Given the description of an element on the screen output the (x, y) to click on. 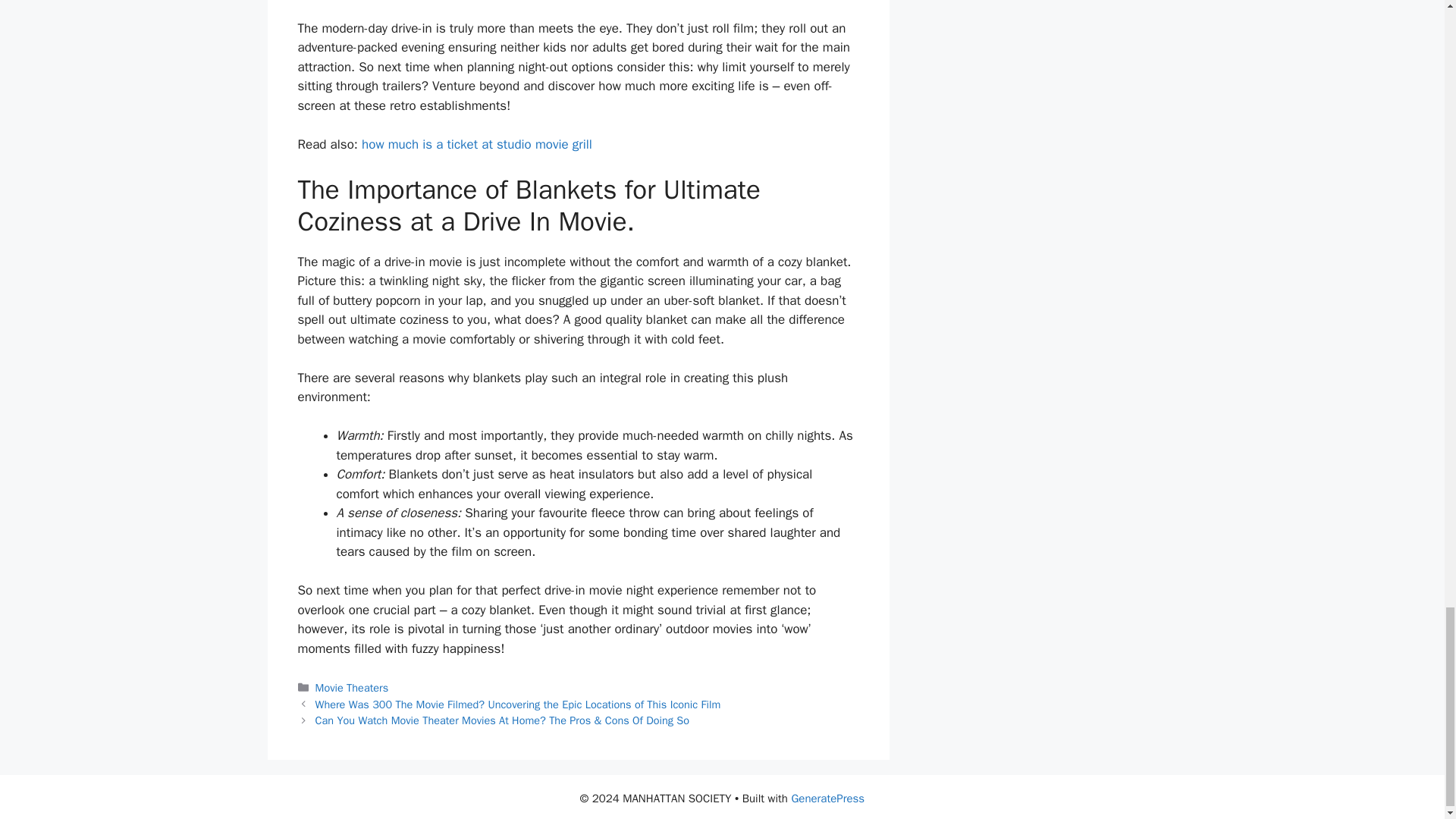
GeneratePress (827, 798)
Movie Theaters (351, 687)
how much is a ticket at studio movie grill (476, 144)
